Given the description of an element on the screen output the (x, y) to click on. 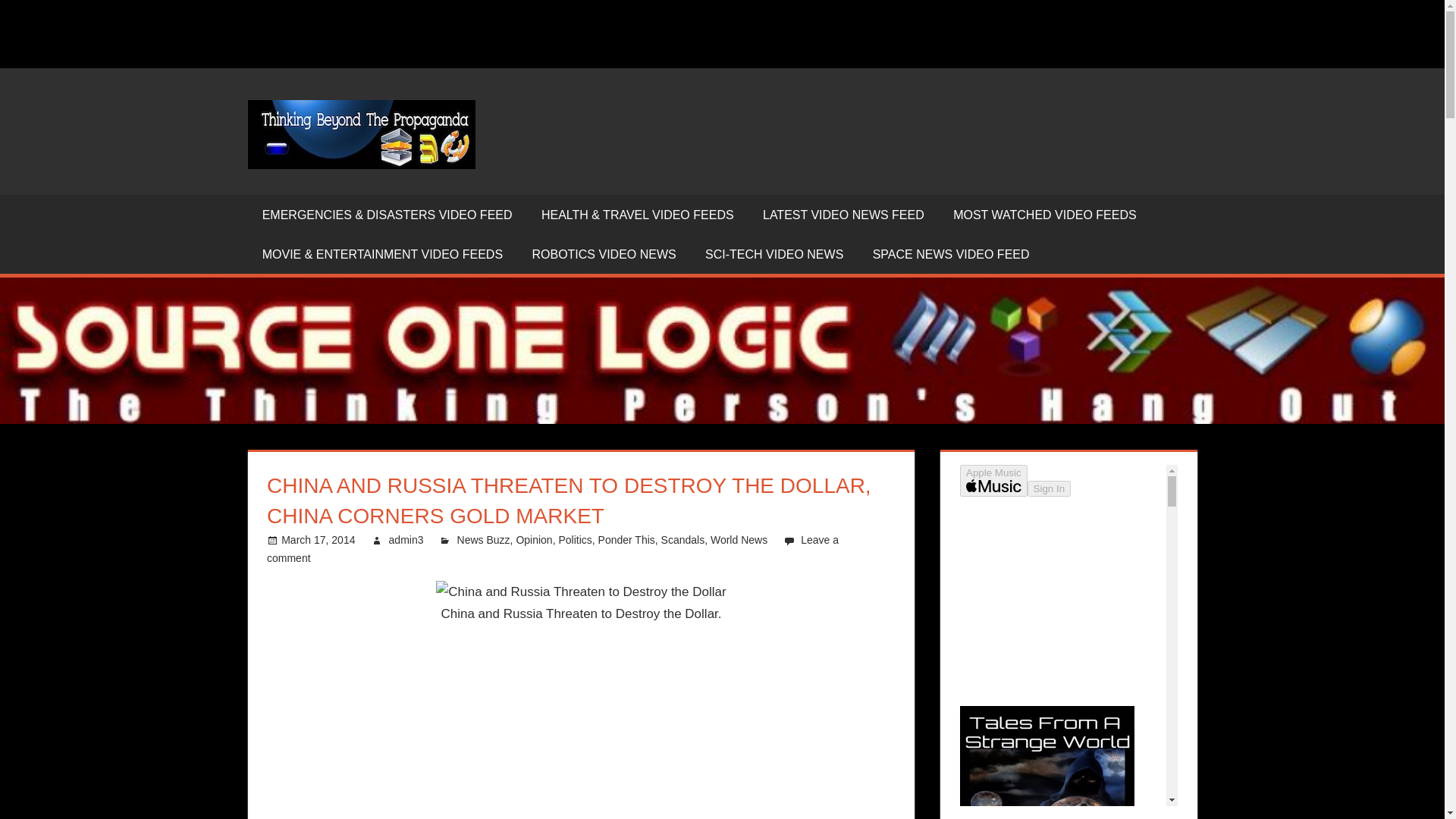
SPACE NEWS VIDEO FEED (951, 253)
Scandals (682, 539)
Opinion (533, 539)
March 17, 2014 (318, 539)
SCI-TECH VIDEO NEWS (774, 253)
Leave a comment (552, 549)
admin3 (405, 539)
ROBOTICS VIDEO NEWS (603, 253)
News Buzz (484, 539)
MOST WATCHED VIDEO FEEDS (1045, 214)
Politics (574, 539)
View all posts by admin3 (405, 539)
12:19 am (318, 539)
Ponder This (626, 539)
LATEST VIDEO NEWS FEED (843, 214)
